Given the description of an element on the screen output the (x, y) to click on. 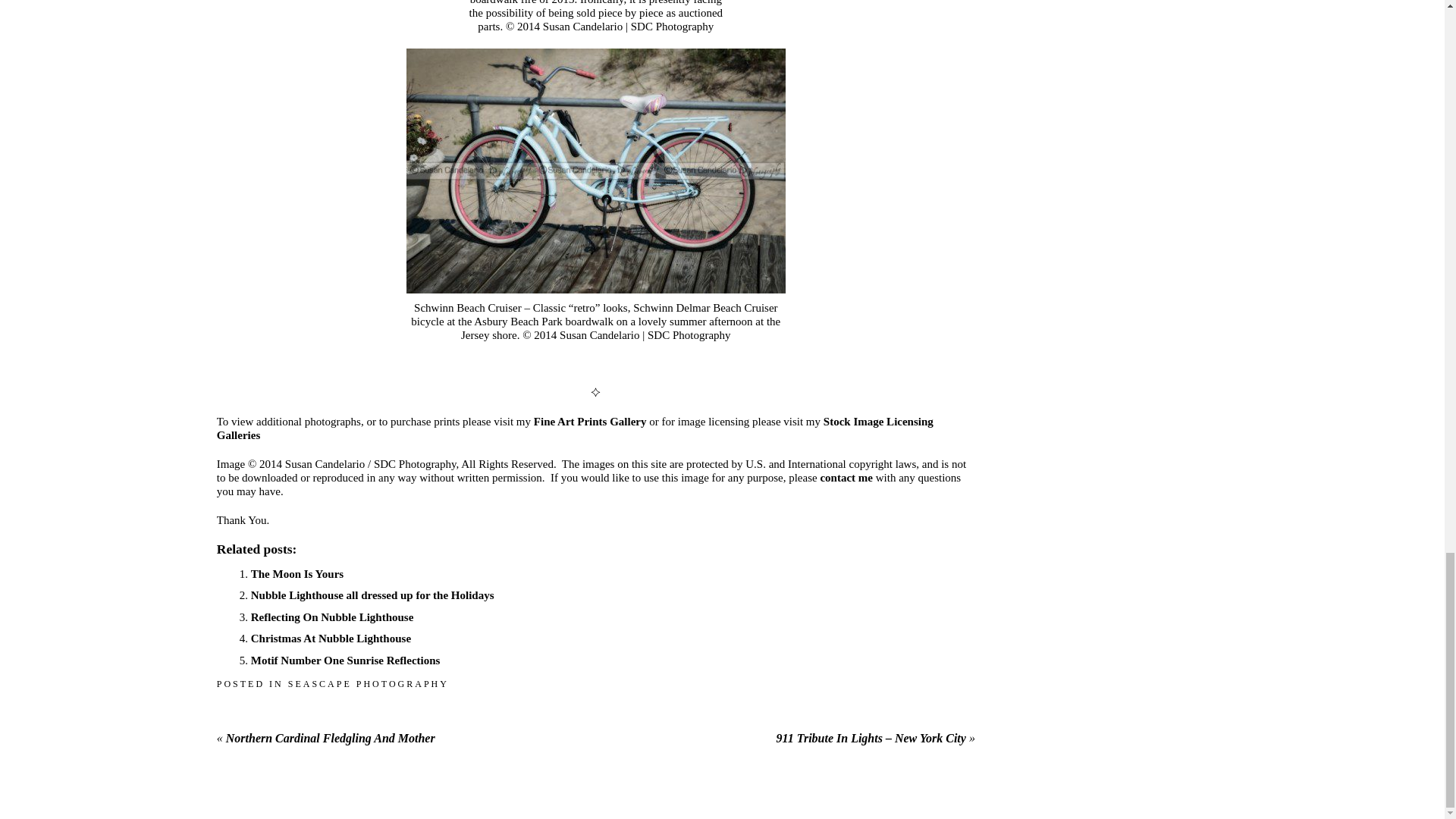
Motif Number One Sunrise Reflections (345, 660)
Christmas At Nubble Lighthouse (330, 638)
Reflecting On Nubble Lighthouse (331, 616)
The Moon Is Yours (296, 573)
Nubble Lighthouse all dressed up for the Holidays (372, 594)
